Given the description of an element on the screen output the (x, y) to click on. 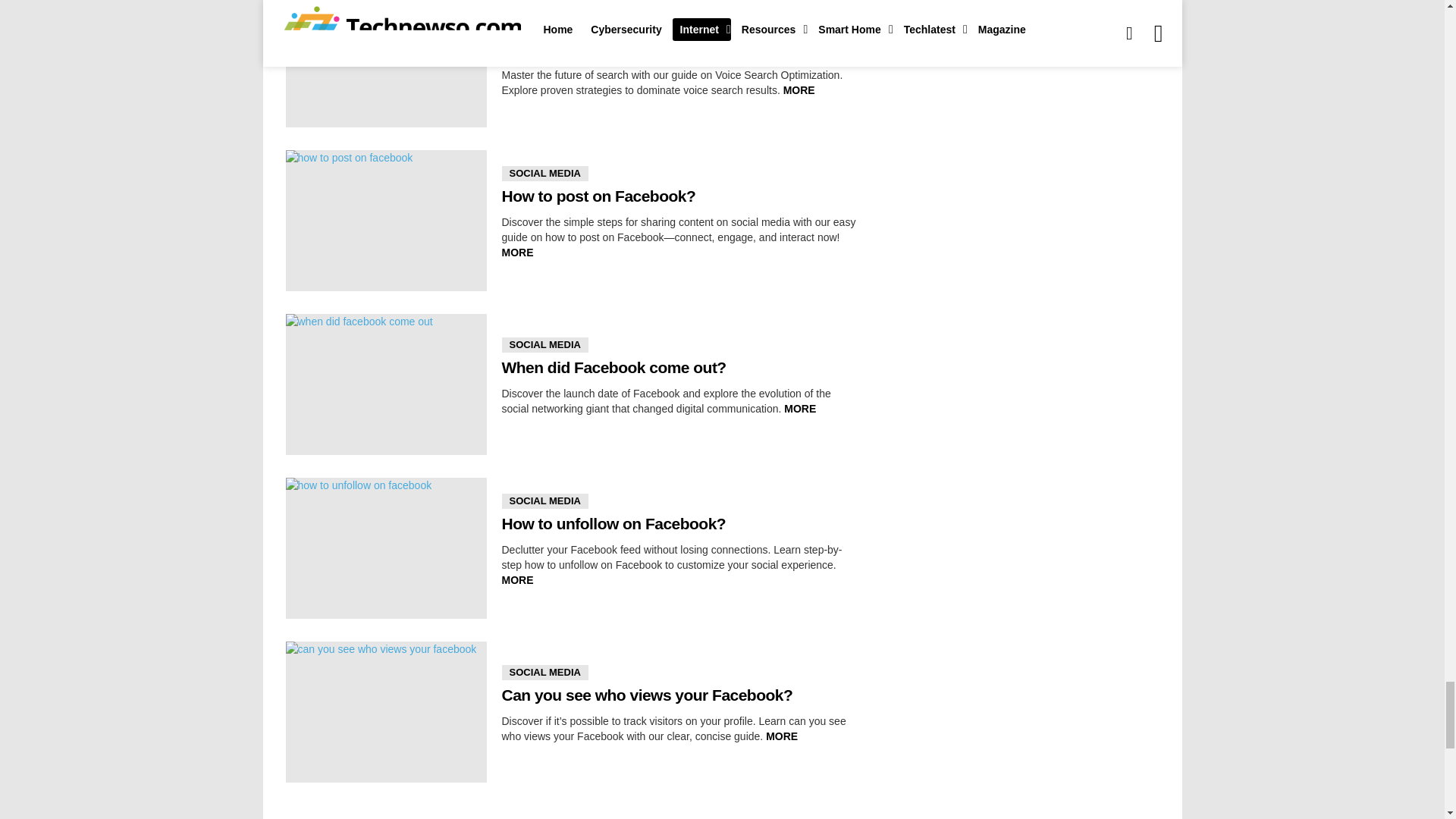
When did Facebook come out? (385, 384)
How to unfollow on Facebook? (385, 548)
Can you see who views your Facebook? (385, 711)
How to post on Facebook? (385, 220)
